Given the description of an element on the screen output the (x, y) to click on. 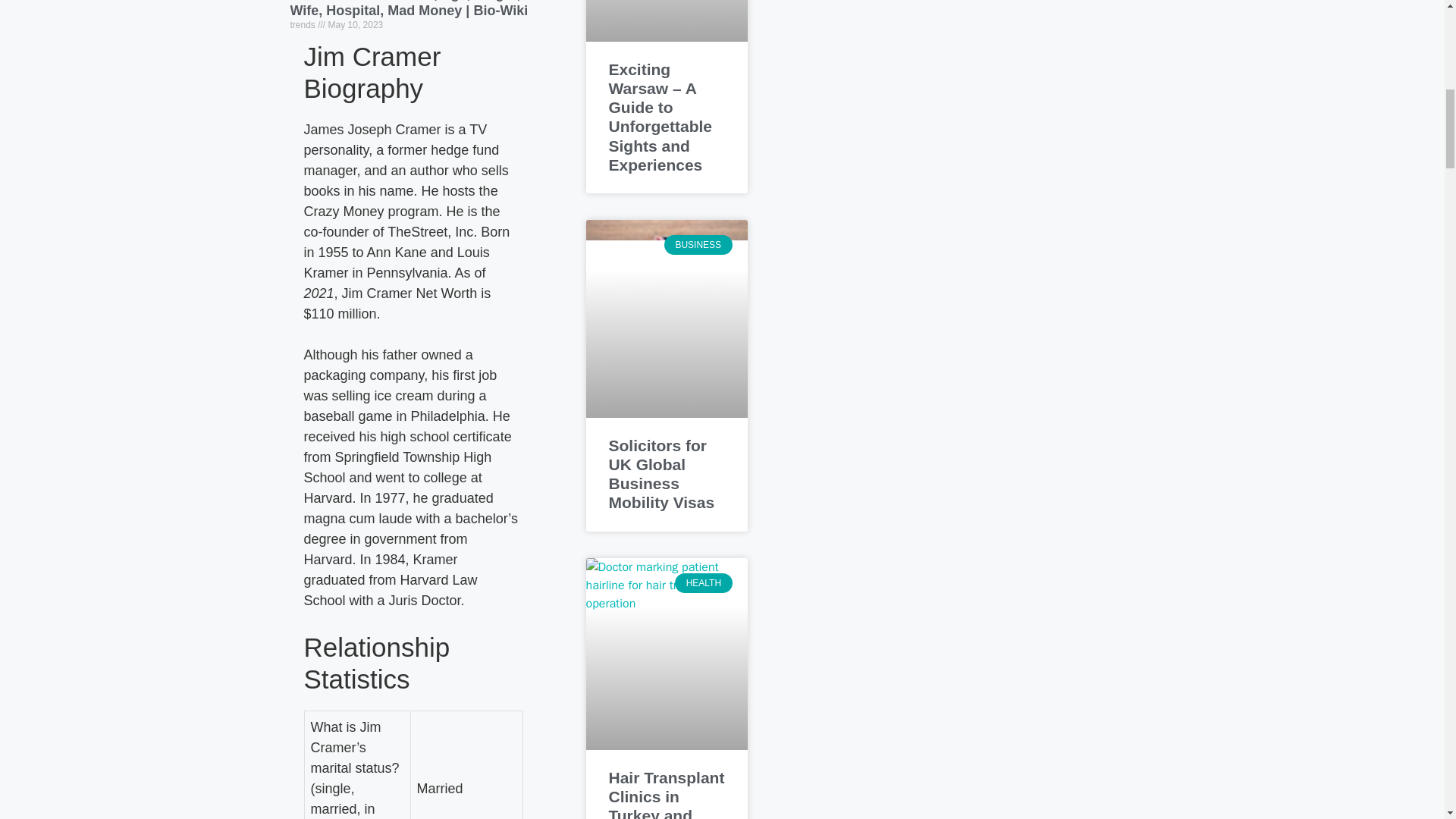
Solicitors for UK Global Business Mobility Visas (661, 473)
